Given the description of an element on the screen output the (x, y) to click on. 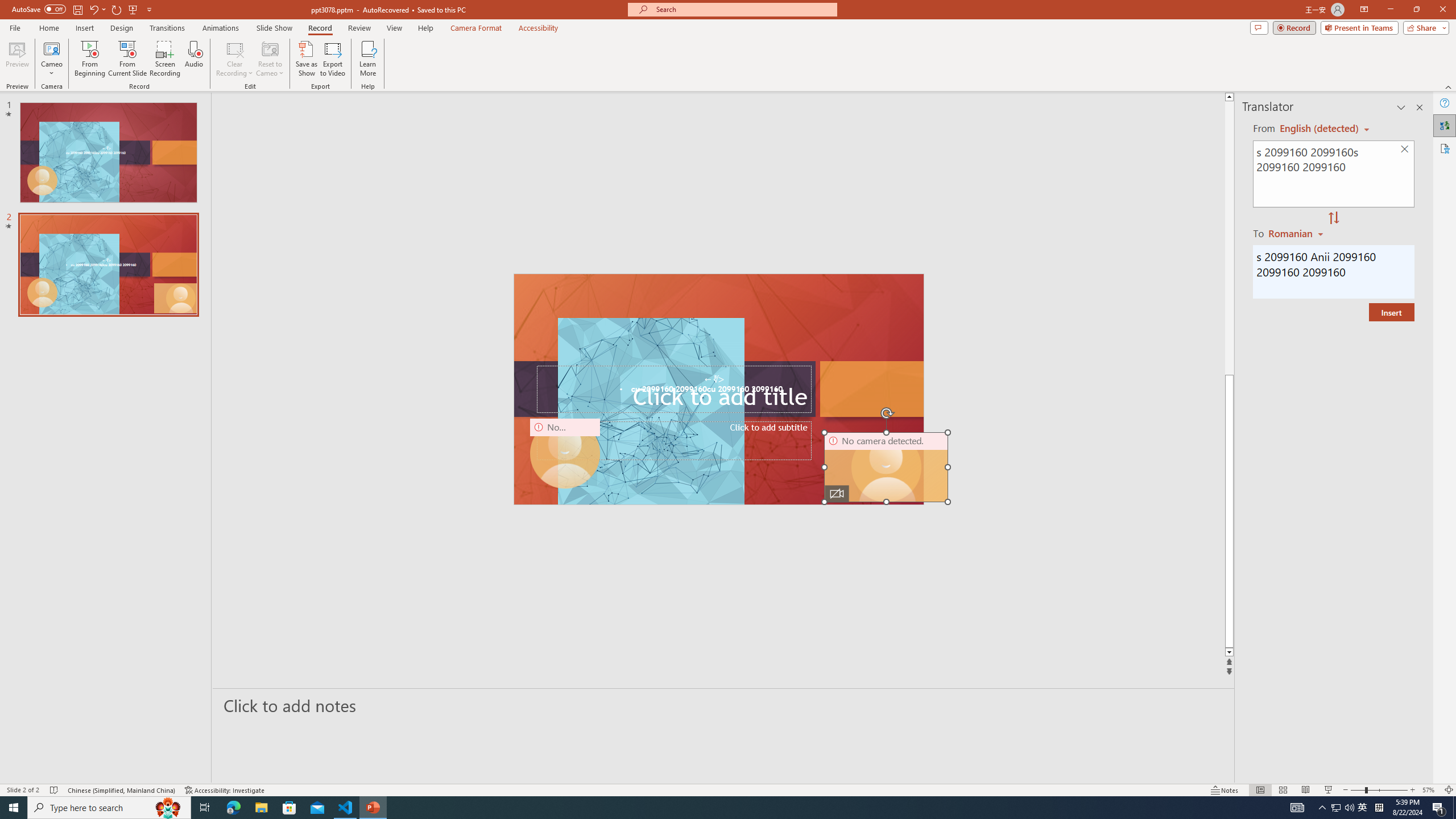
Zoom In (1412, 790)
Customize Quick Access Toolbar (149, 9)
Slide Notes (724, 705)
Insert (83, 28)
Task Pane Options (1400, 107)
Camera 14, No camera detected. (886, 466)
Cameo (51, 58)
Cameo (51, 48)
Learn More (368, 58)
Quick Access Toolbar (82, 9)
File Tab (15, 27)
